Given the description of an element on the screen output the (x, y) to click on. 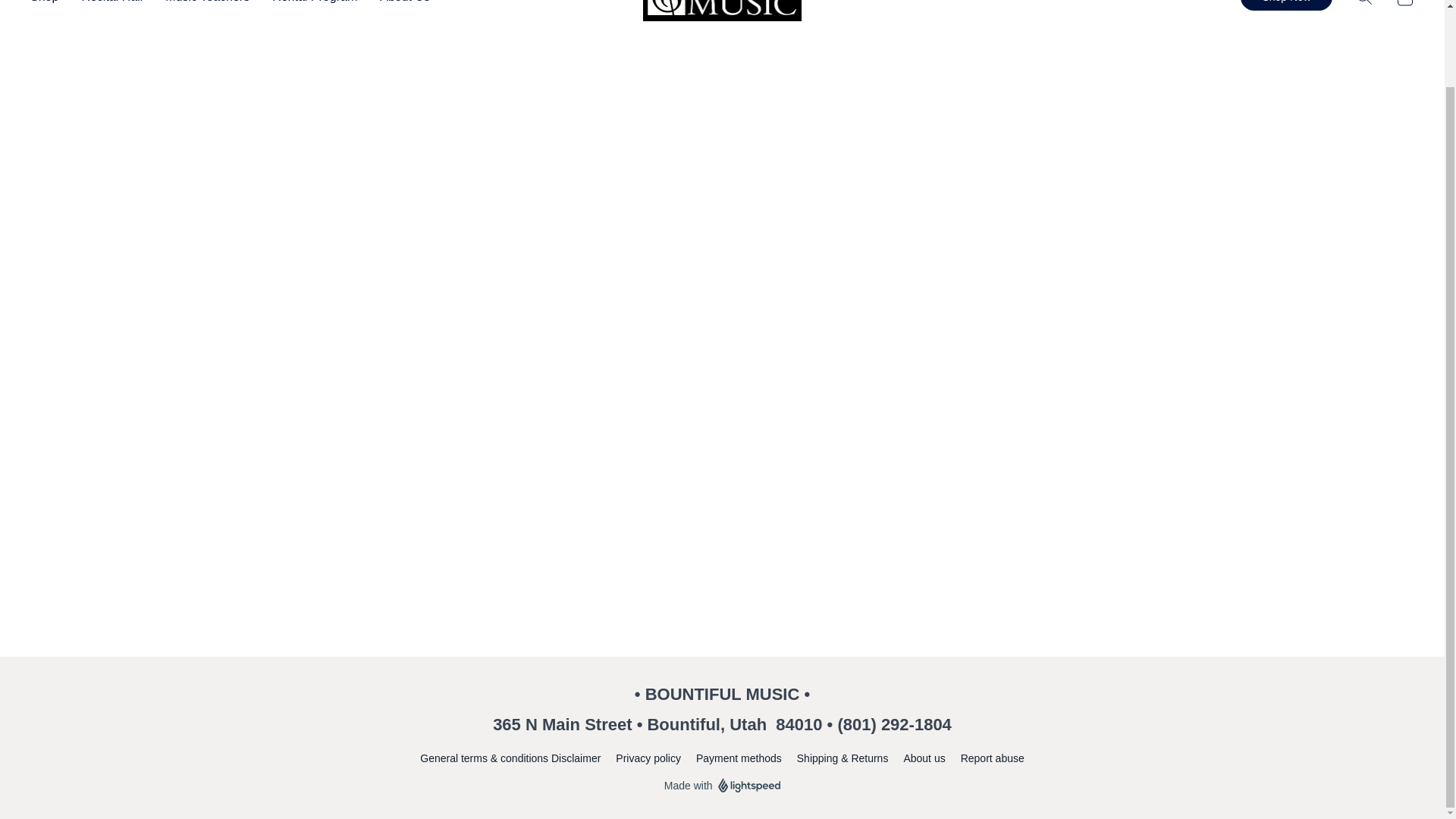
Go to your shopping cart (1404, 6)
Recital Hall (111, 5)
Made with (721, 785)
Music Teachers (207, 5)
About us (923, 758)
Report abuse (992, 758)
Privacy policy (648, 758)
Shop Now (1286, 4)
Search the website (1363, 6)
Shop (49, 5)
About Us (398, 5)
Rental Program (314, 5)
Payment methods (738, 758)
